Given the description of an element on the screen output the (x, y) to click on. 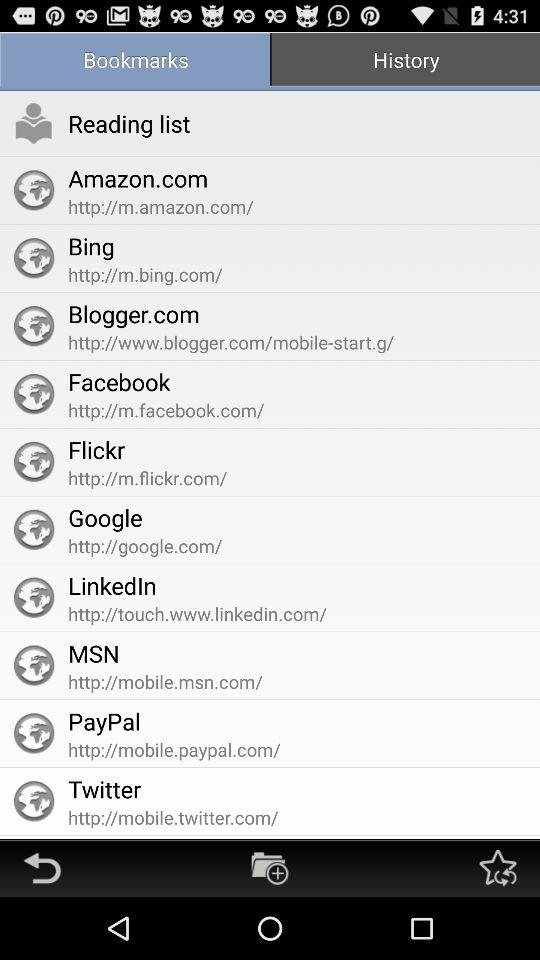
open the item below bookmarks app (34, 123)
